Given the description of an element on the screen output the (x, y) to click on. 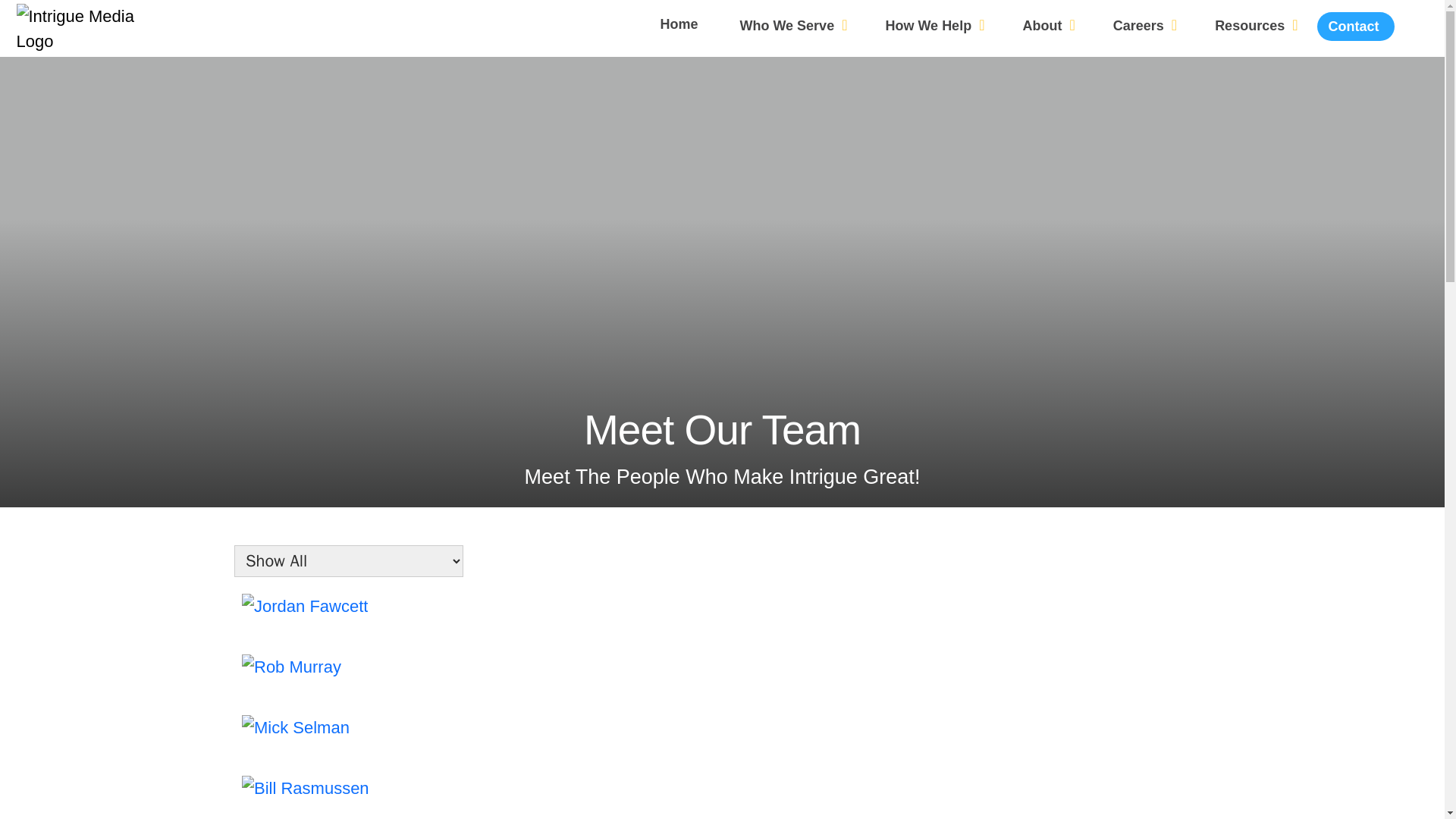
Careers (1144, 24)
About (1048, 24)
Who We Serve (793, 24)
Resources (1255, 24)
How We Help (934, 24)
Home (680, 24)
